Given the description of an element on the screen output the (x, y) to click on. 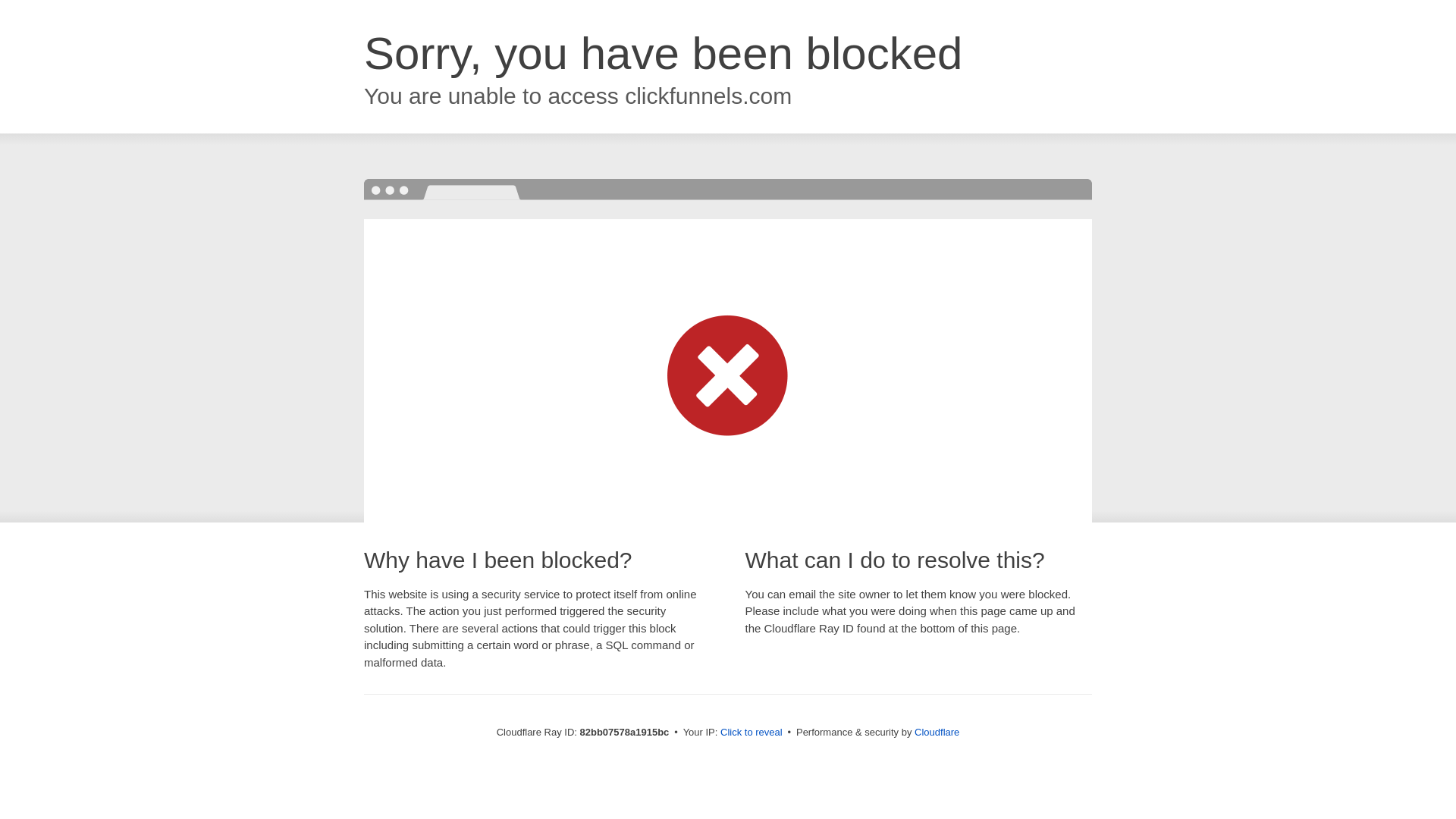
Click to reveal Element type: text (751, 732)
Cloudflare Element type: text (936, 731)
